Given the description of an element on the screen output the (x, y) to click on. 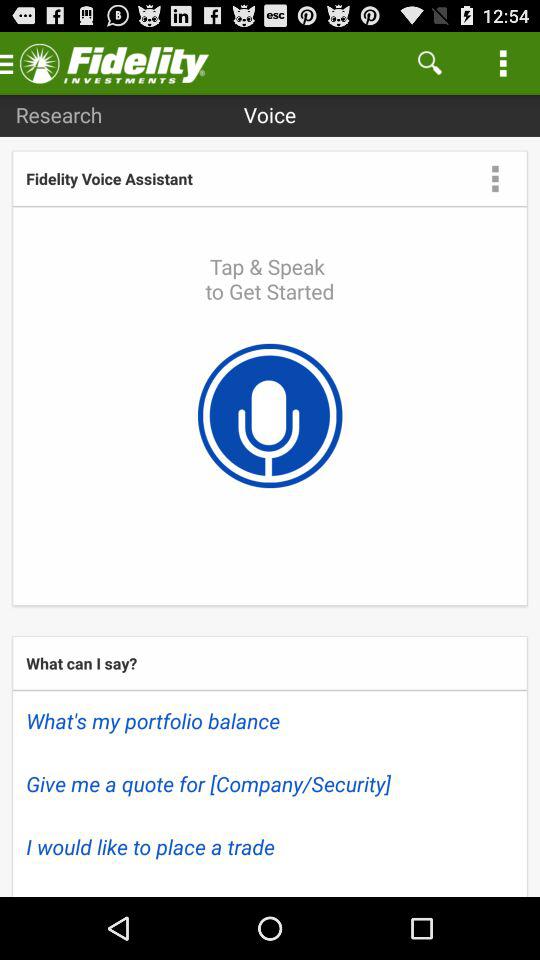
more options (495, 178)
